Given the description of an element on the screen output the (x, y) to click on. 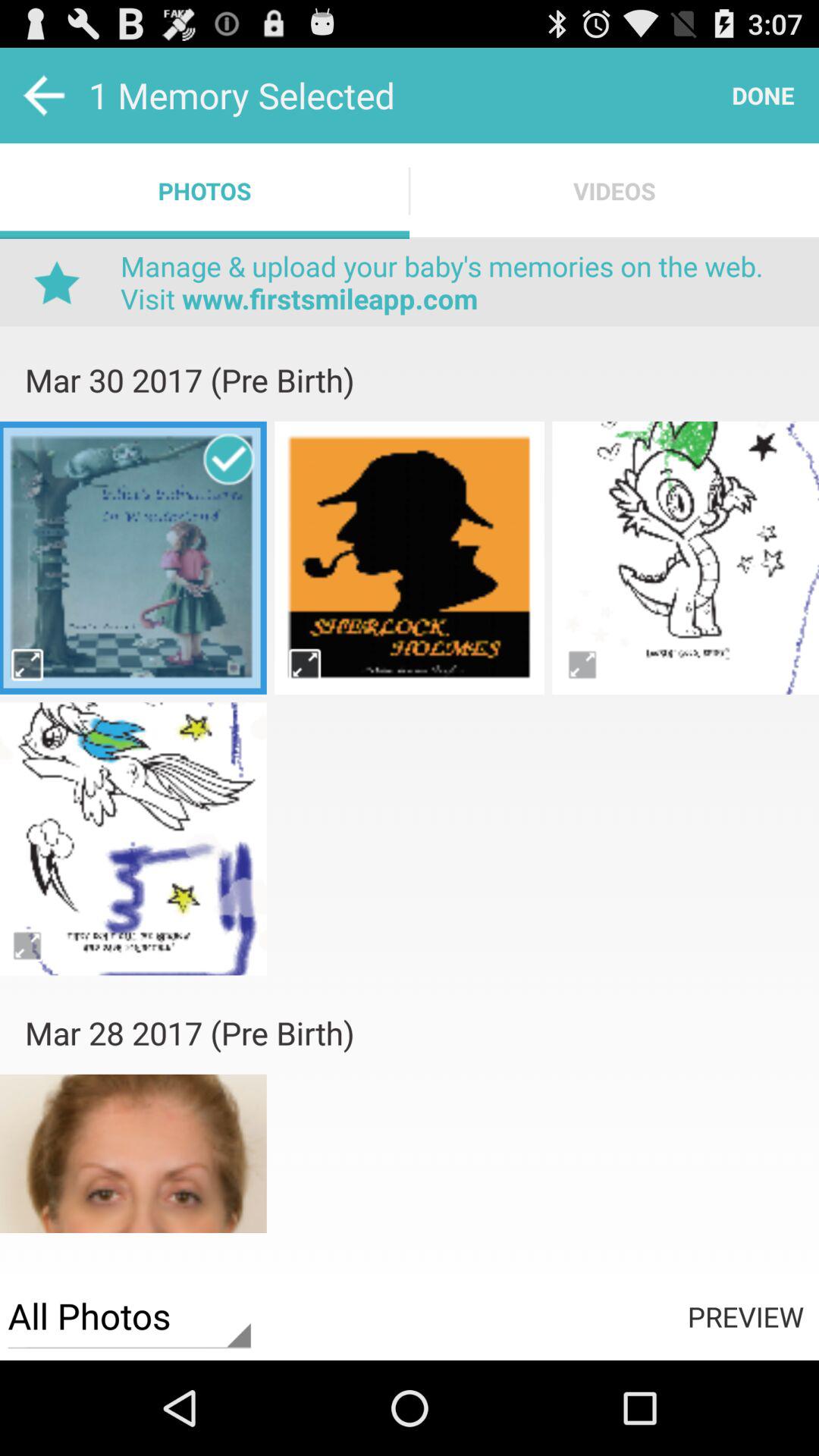
enlarge photo (581, 664)
